Given the description of an element on the screen output the (x, y) to click on. 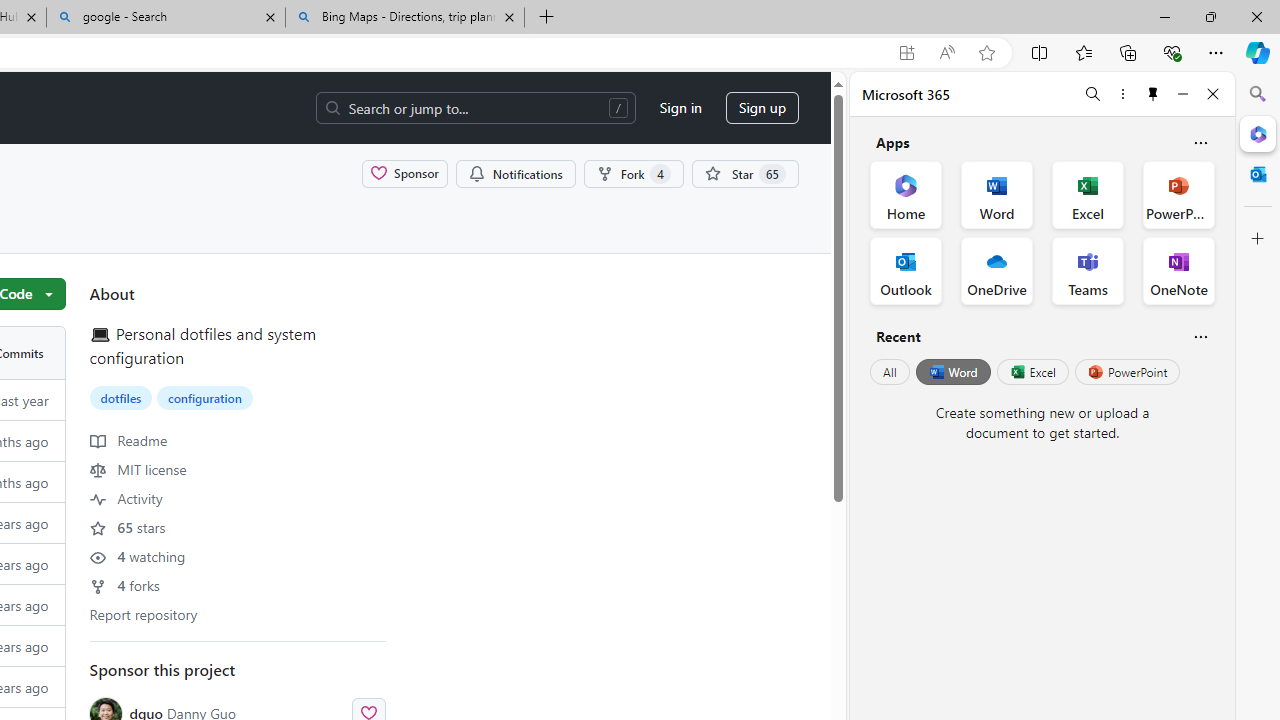
Teams Office App (1087, 270)
Word (952, 372)
Word Office App (996, 194)
65 stars (127, 526)
Excel Office App (1087, 194)
Outlook Office App (906, 270)
PowerPoint (1127, 372)
Activity (125, 498)
Fork 4 (632, 173)
configuration (204, 397)
You must be signed in to change notification settings (515, 173)
 Readme (128, 439)
